Given the description of an element on the screen output the (x, y) to click on. 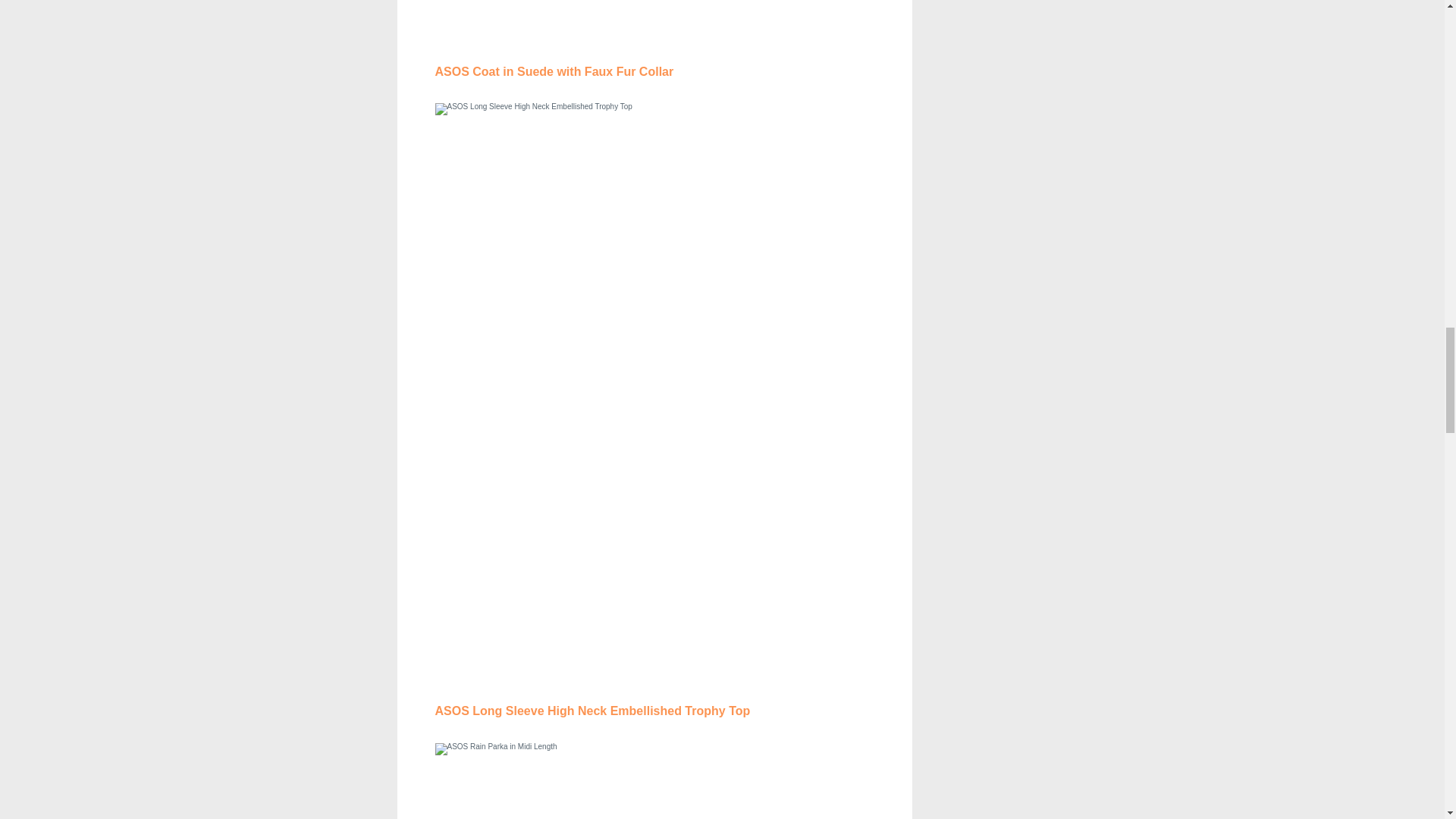
ASOS Coat in Suede with Faux Fur Collar (554, 71)
ASOS Long Sleeve High Neck Embellished Trophy Top (593, 710)
